Given the description of an element on the screen output the (x, y) to click on. 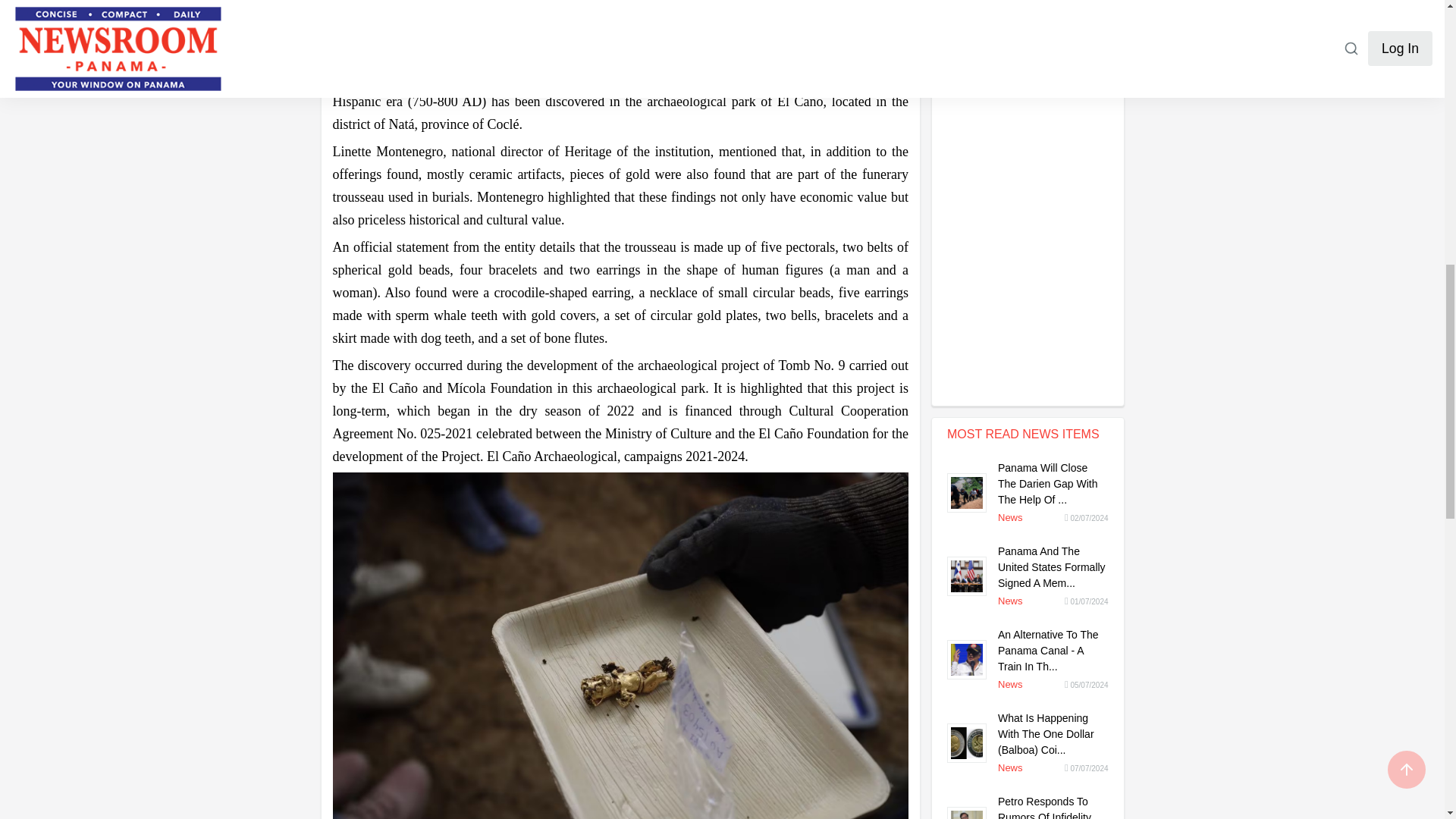
Advertisement (619, 22)
